Given the description of an element on the screen output the (x, y) to click on. 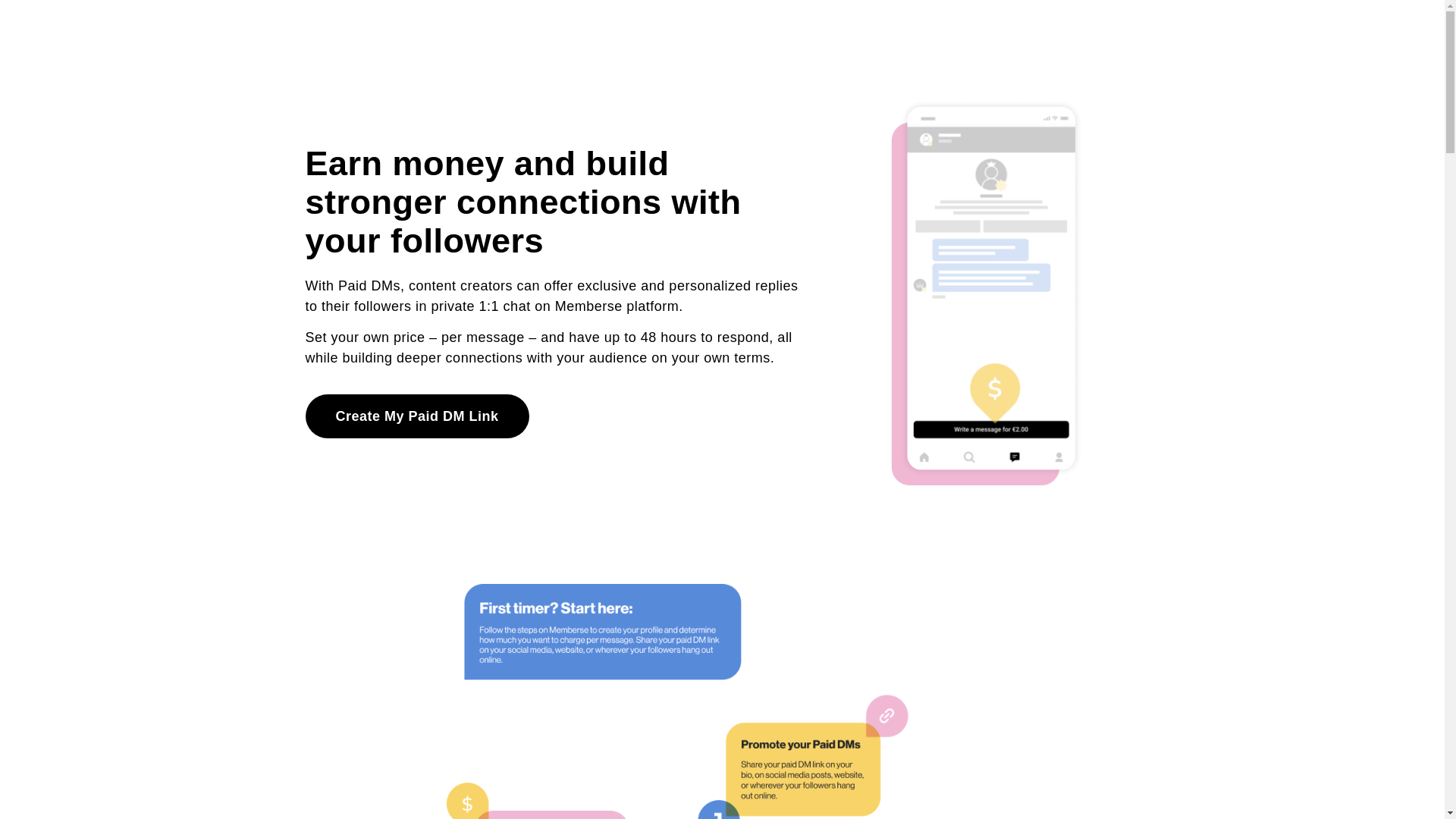
Create My Paid DM Link (416, 415)
